Given the description of an element on the screen output the (x, y) to click on. 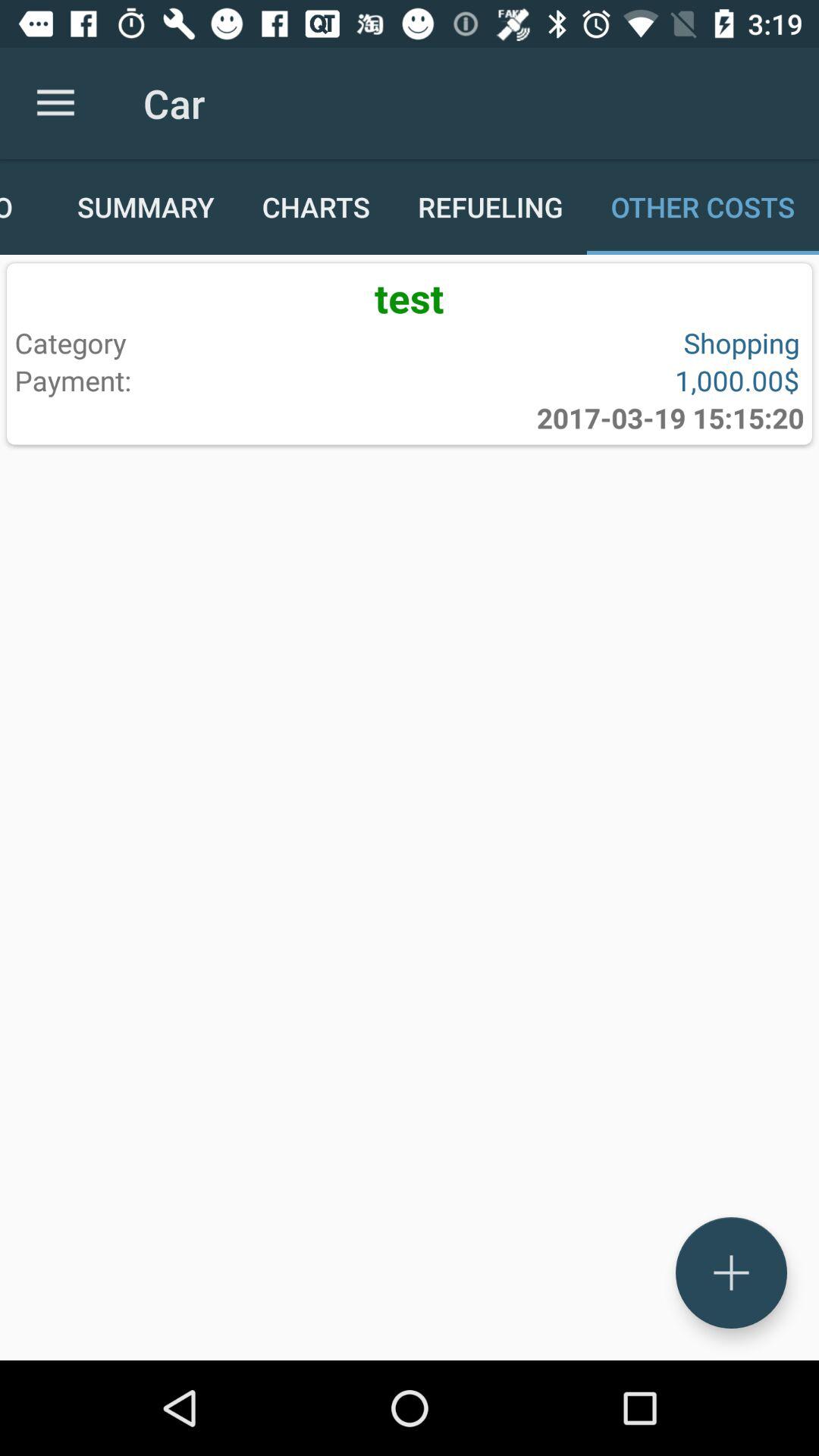
tap app to the left of car icon (55, 103)
